Given the description of an element on the screen output the (x, y) to click on. 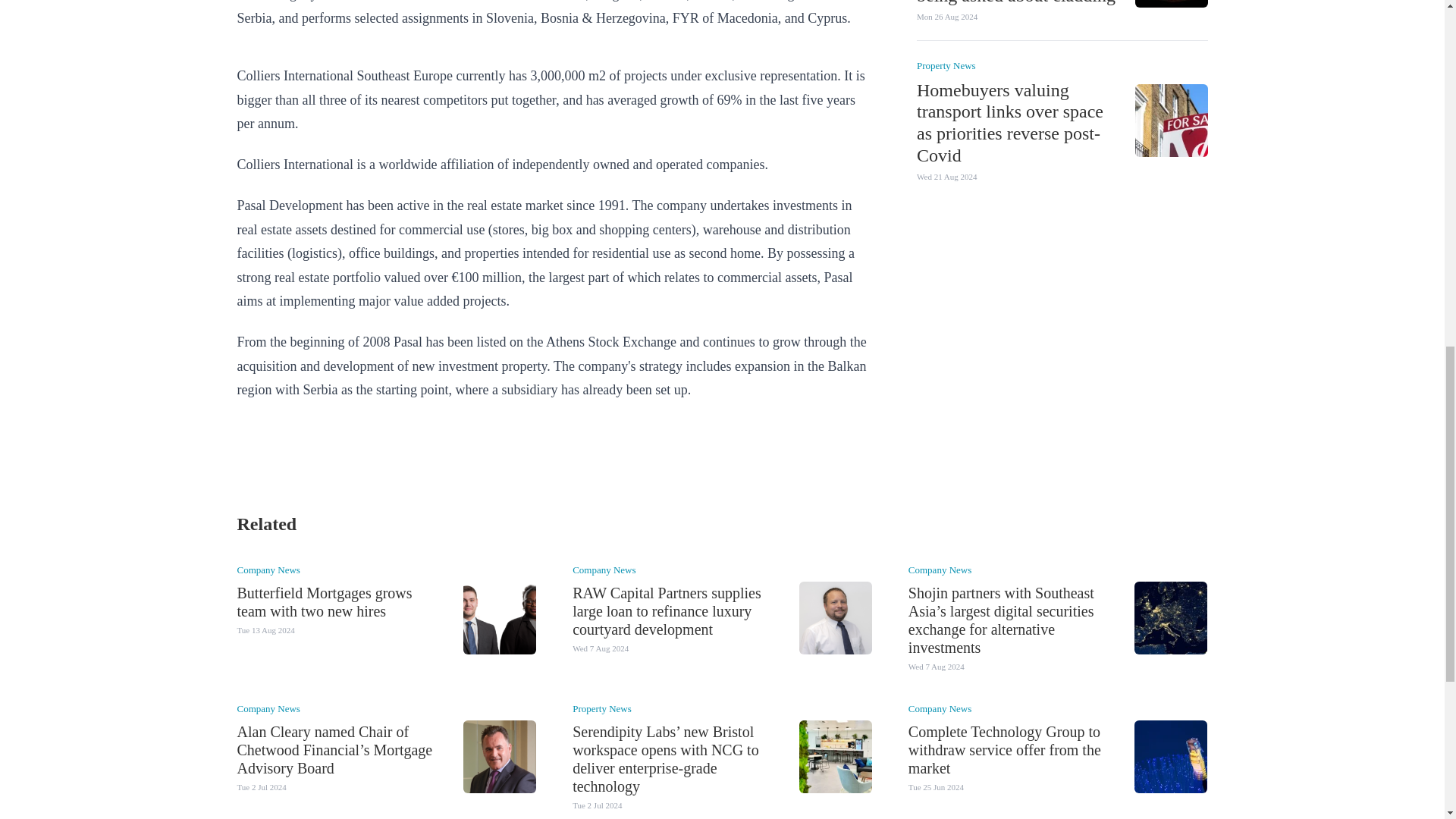
Butterfield Mortgages grows team with two new hires (323, 601)
Company News (603, 569)
Property News (945, 64)
Company News (939, 569)
Company News (267, 569)
